Given the description of an element on the screen output the (x, y) to click on. 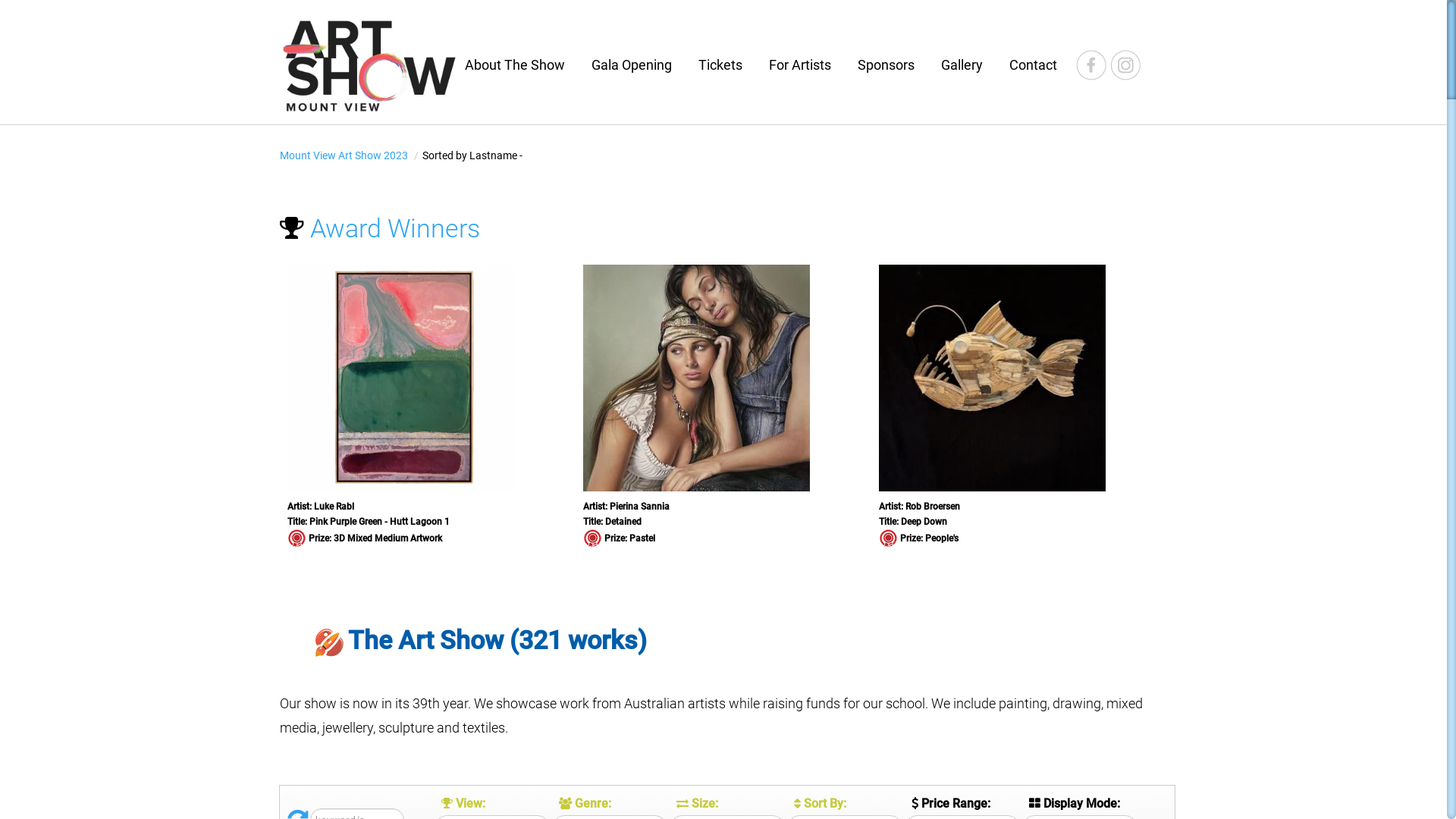
Mount View Art Show Element type: hover (368, 63)
This Item is a Prize Winner Element type: hover (592, 538)
Contact Element type: text (1038, 65)
This Item is a Prize Winner Element type: hover (296, 538)
About The Show Element type: text (520, 65)
Tickets Element type: text (725, 65)
Artist: Alison Clark
Title: Big Daddy
Prize: Oil Element type: text (723, 410)
The Art Show (321 works) Element type: text (462, 644)
Gala Opening Element type: text (636, 65)
For Artists Element type: text (805, 65)
Sponsors Element type: text (891, 65)
Gallery Element type: text (967, 65)
Mount View Art Show 2023 Element type: text (344, 155)
This Item is a Prize Winner Element type: hover (887, 538)
Award Winners Element type: text (392, 228)
Artist: Rob Broersen
Title: Deep Down
Prize: People's Element type: text (427, 410)
